Given the description of an element on the screen output the (x, y) to click on. 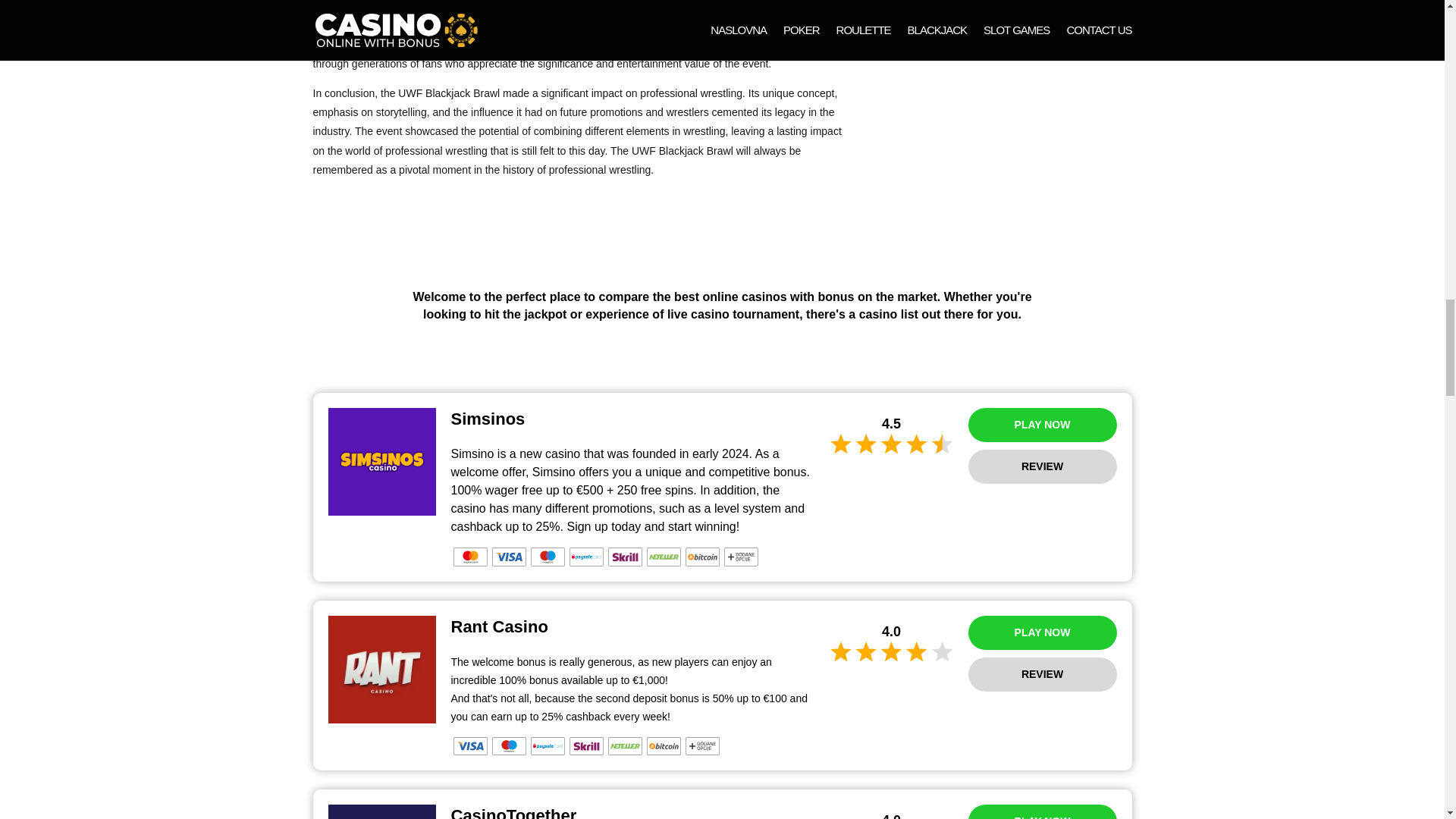
Mastercard (469, 556)
Visa (469, 746)
PLAY NOW (1042, 632)
Paysafecard (585, 556)
Bitcoin (702, 556)
Skrill (585, 746)
Rant Casino (381, 669)
Skrill (625, 556)
Maestro (547, 556)
PLAY NOW (1042, 424)
Neteller (662, 556)
Visa (508, 556)
REVIEW (1042, 466)
Maestro (508, 746)
Dodatne (740, 556)
